Given the description of an element on the screen output the (x, y) to click on. 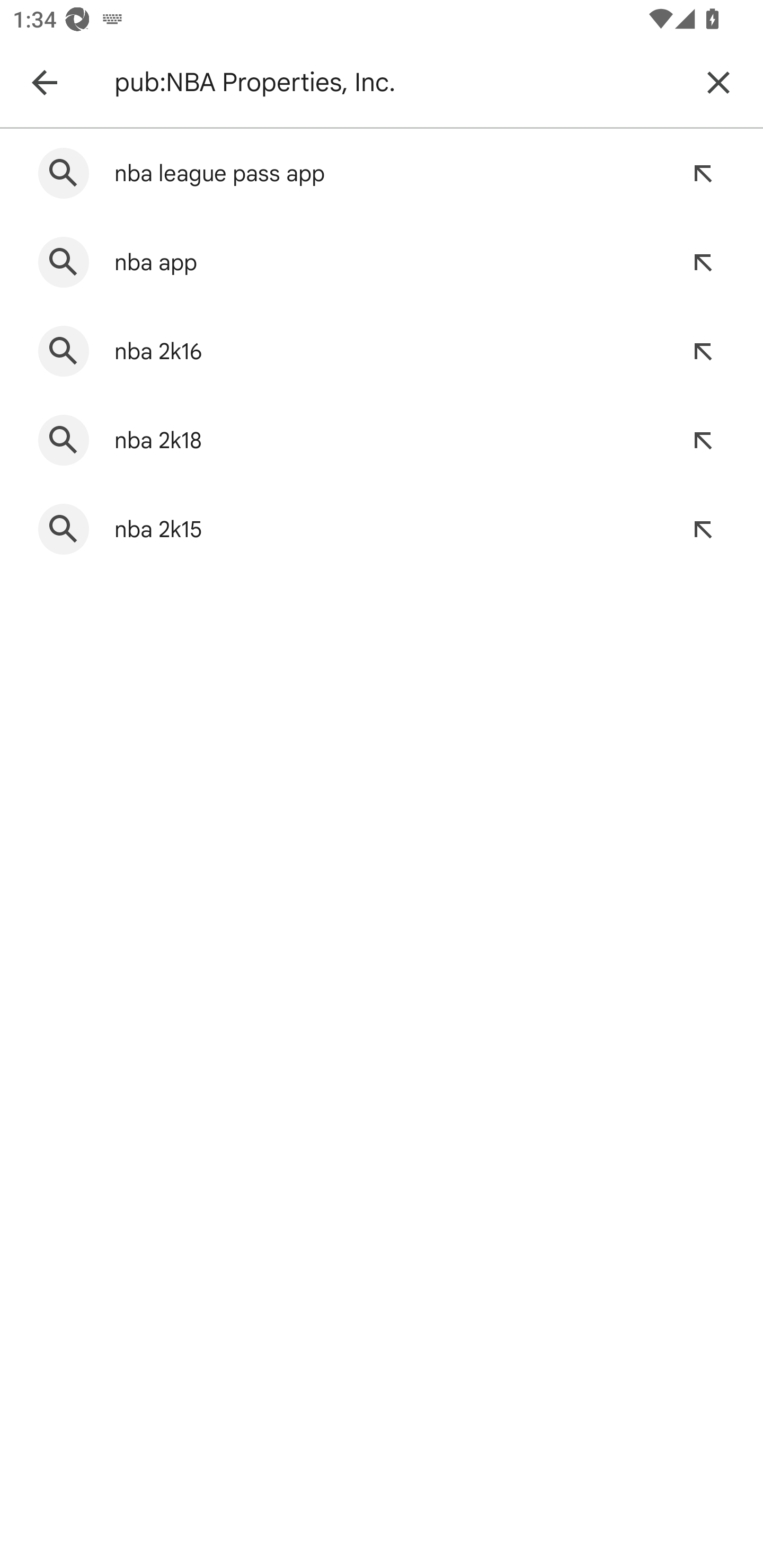
Navigate up (44, 81)
pub:NBA Properties, Inc. (397, 81)
Clear (718, 81)
Refine search to "nba league pass app" (702, 172)
Search for "nba app"  Refine search to "nba app" (381, 262)
Refine search to "nba app" (702, 262)
Search for "nba 2k16"  Refine search to "nba 2k16" (381, 351)
Refine search to "nba 2k16" (702, 351)
Search for "nba 2k18"  Refine search to "nba 2k18" (381, 439)
Refine search to "nba 2k18" (702, 439)
Search for "nba 2k15"  Refine search to "nba 2k15" (381, 528)
Refine search to "nba 2k15" (702, 528)
